Given the description of an element on the screen output the (x, y) to click on. 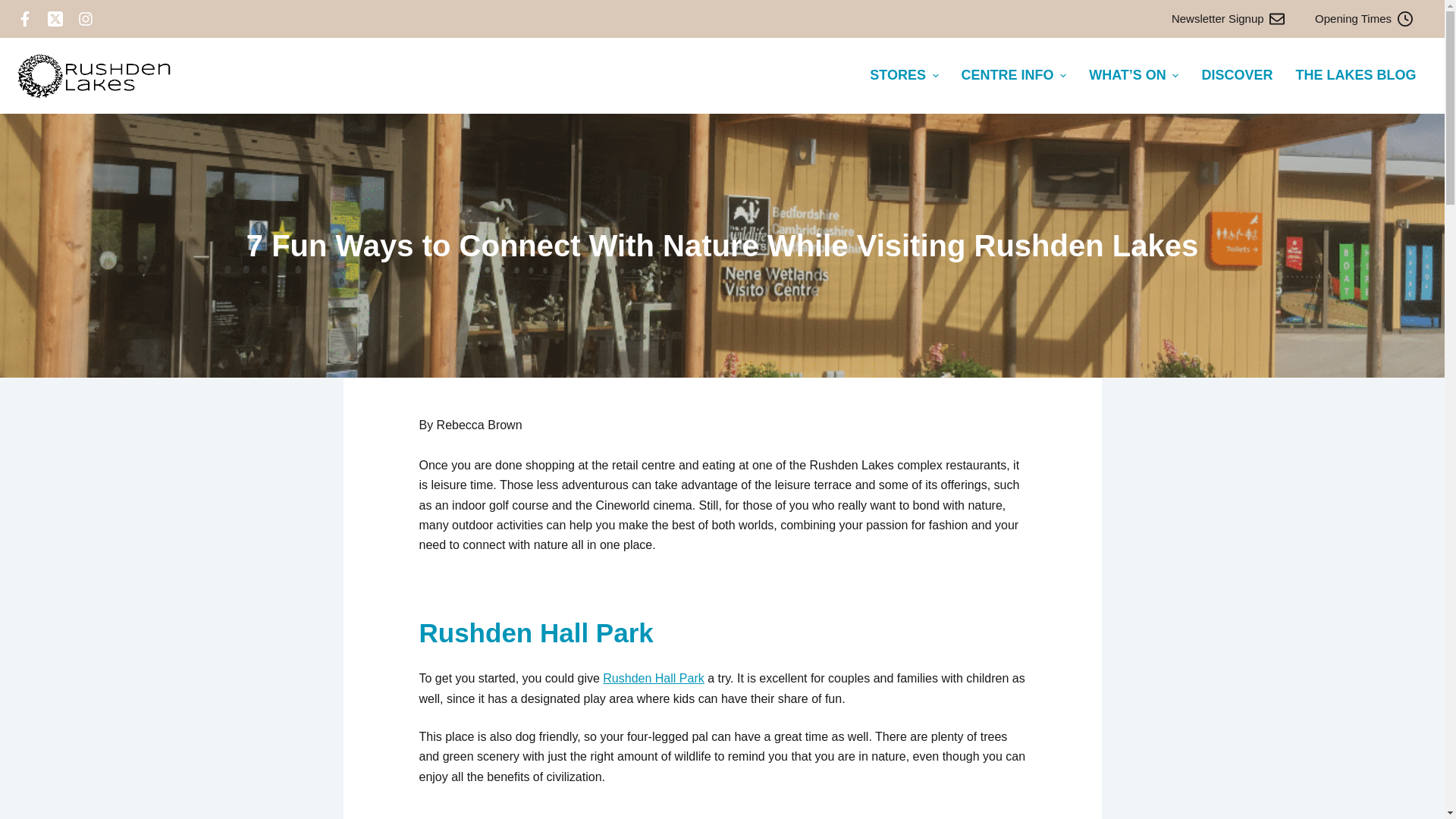
Opening Times (1363, 19)
STORES (904, 75)
Newsletter Signup (1228, 19)
Skip to content (15, 7)
